Given the description of an element on the screen output the (x, y) to click on. 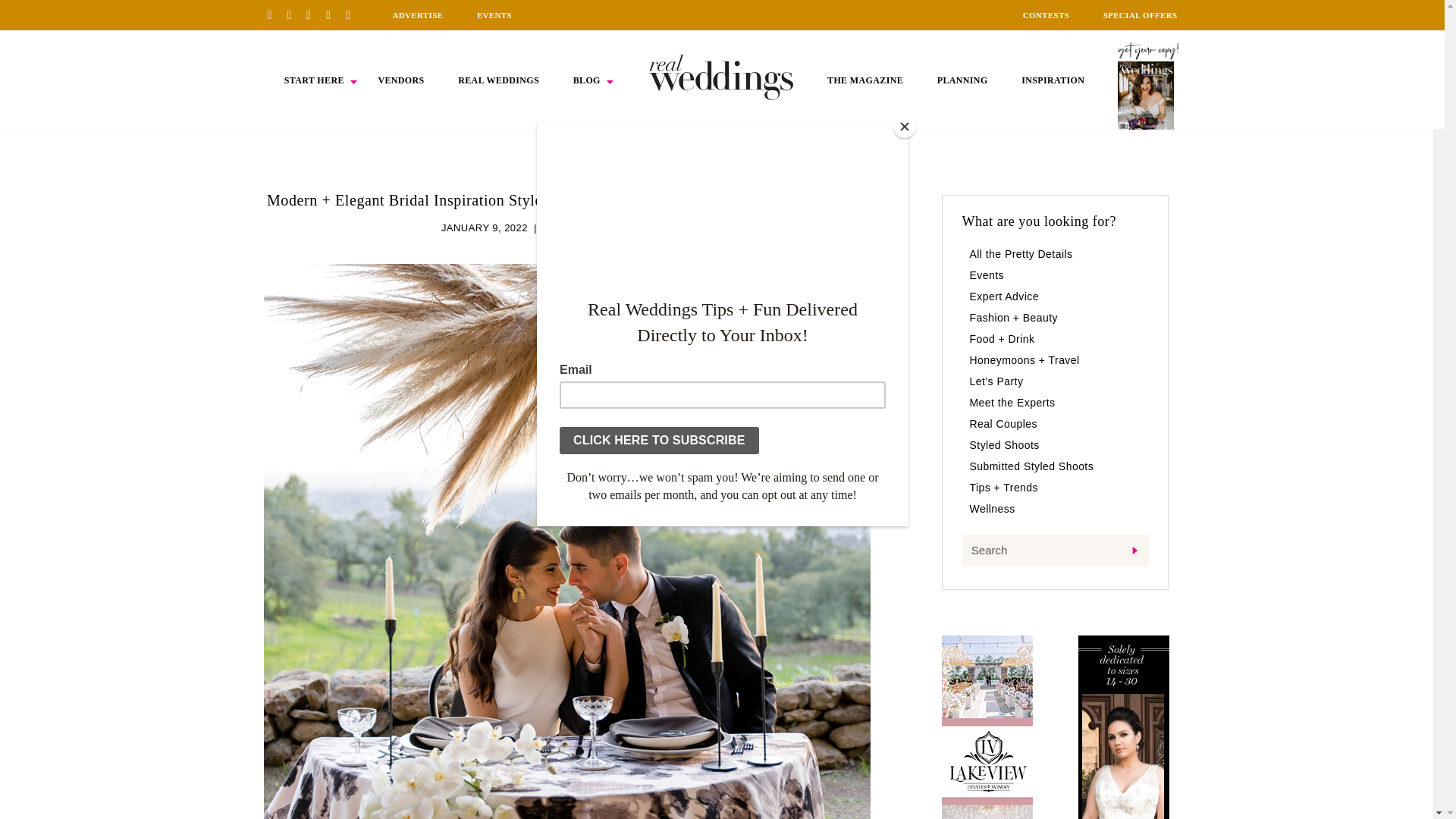
YouTube (353, 14)
INSPIRATION (1053, 80)
PLANNING (962, 80)
THE MAGAZINE (864, 80)
Search (1054, 550)
Facebook (294, 14)
BLOG (586, 80)
EVENTS (494, 14)
SUBMITTED STYLED SHOOTS (618, 227)
HOME (721, 76)
Search (1054, 550)
VENDORS (400, 80)
CONTESTS (1045, 14)
Twitter (334, 14)
Instagram (313, 14)
